Given the description of an element on the screen output the (x, y) to click on. 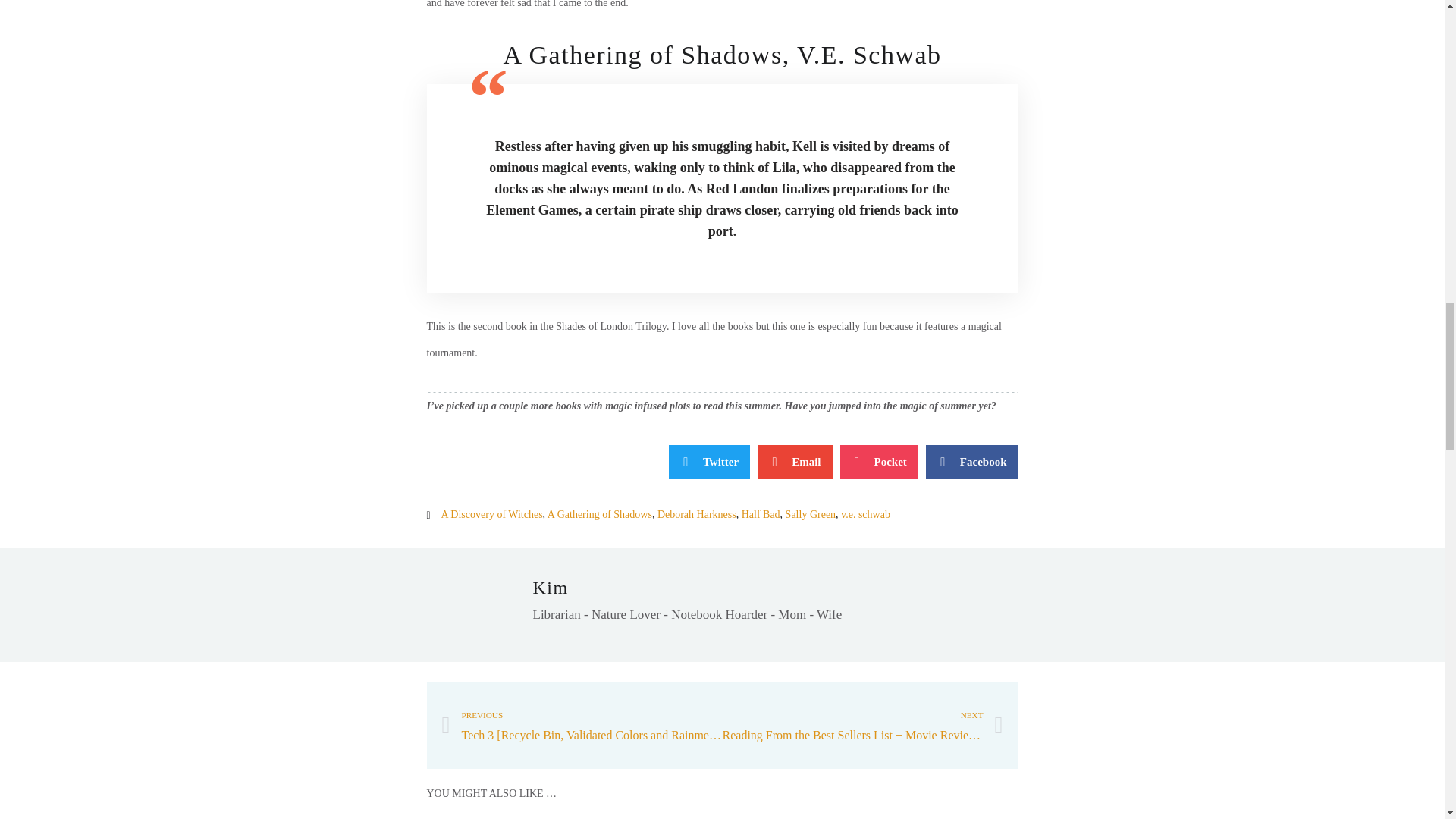
Half Bad (760, 514)
Sally Green (810, 514)
v.e. schwab (865, 514)
A Discovery of Witches (492, 514)
Deborah Harkness (697, 514)
A Gathering of Shadows (599, 514)
